Given the description of an element on the screen output the (x, y) to click on. 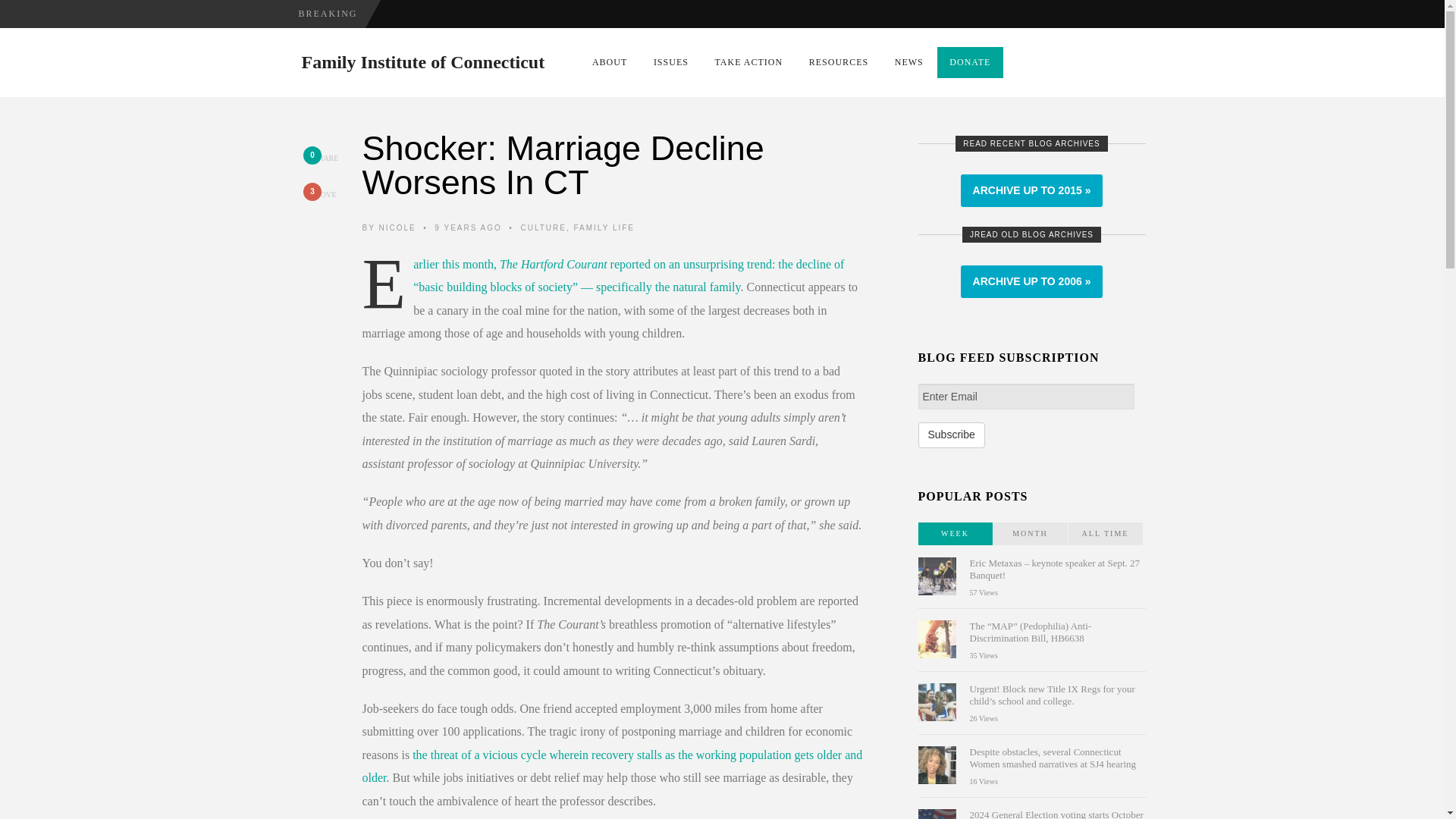
Posts by Nicole (396, 227)
ABOUT (609, 61)
ISSUES (670, 61)
More Family life Posts (603, 227)
DONATE (970, 61)
NEWS (909, 61)
RESOURCES (838, 61)
Enter Email (1025, 396)
Family Institute of Connecticut (422, 62)
Enter Email (1025, 396)
